Given the description of an element on the screen output the (x, y) to click on. 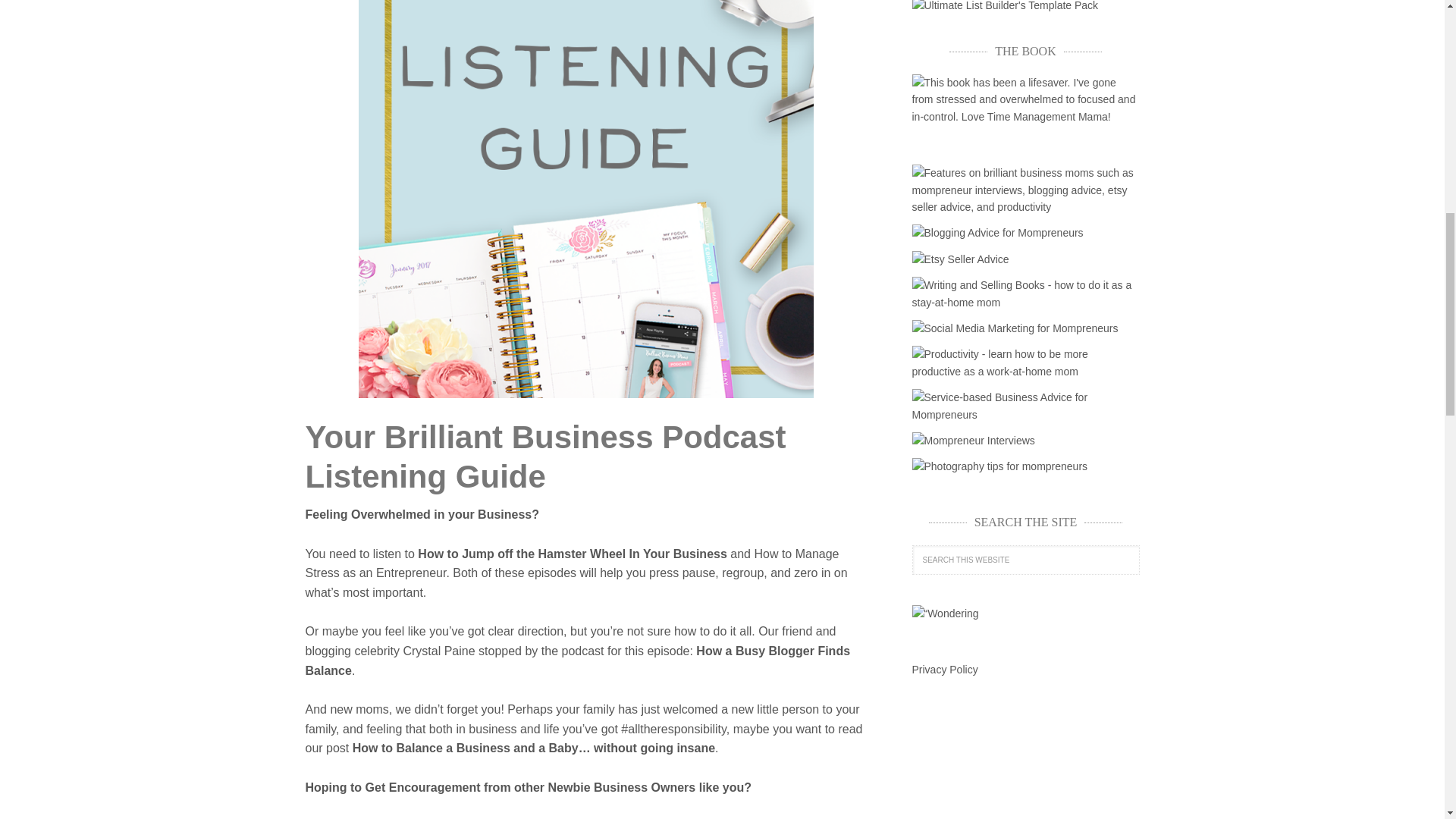
How to Manage Stress as an Entrepreneur (571, 563)
How to Jump off the Hamster Wheel In Your Business (571, 553)
How a Busy Blogger Finds Balance (577, 660)
